Given the description of an element on the screen output the (x, y) to click on. 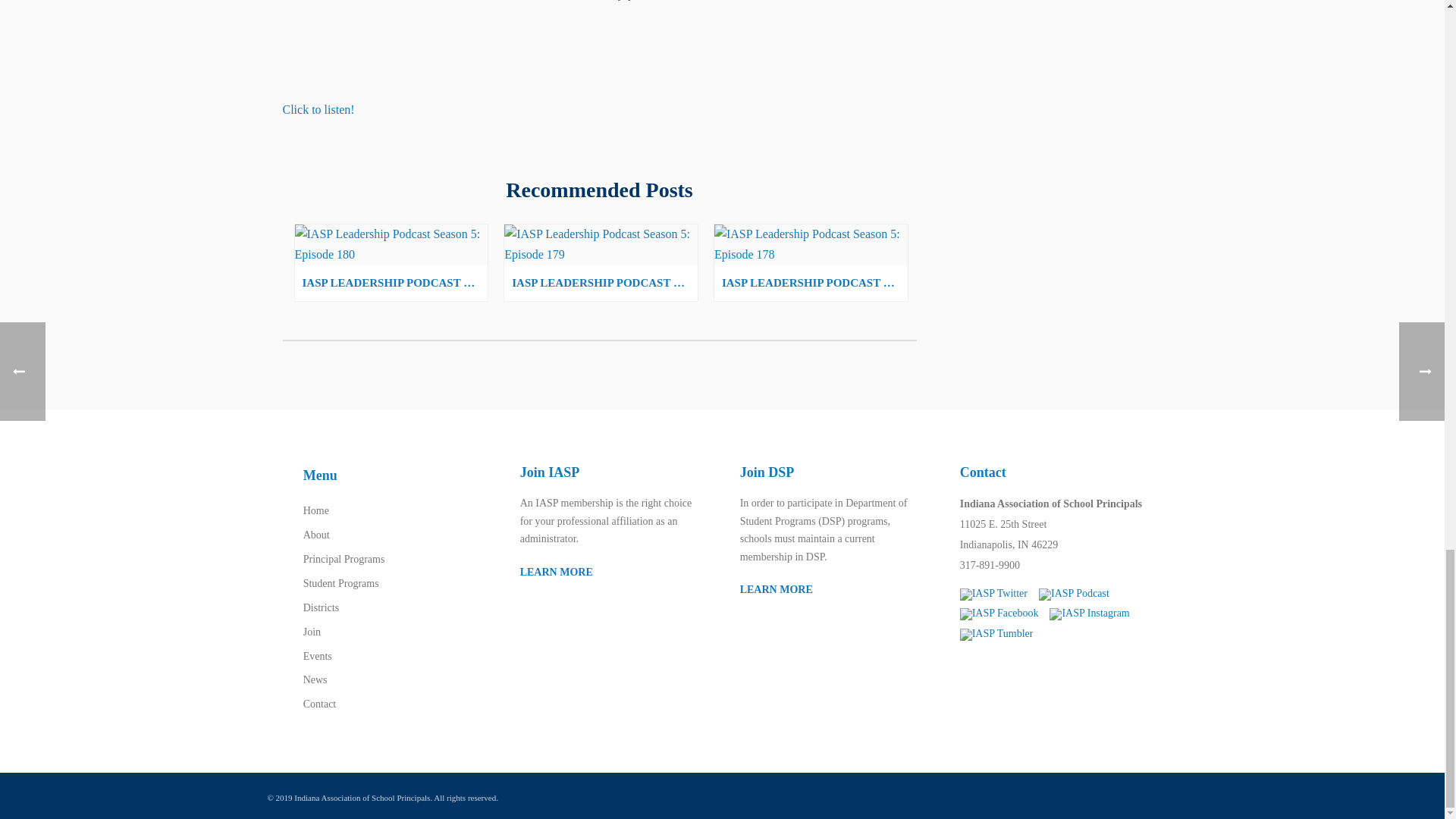
 IASP Podcast (1074, 594)
IASP Leadership Podcast Season 5: Episode 179 (600, 244)
 IASP Twitter (993, 594)
 IASP Instagram (1089, 613)
IASP Leadership Podcast Season 5: Episode 180 (390, 244)
 IASP Tumbler (996, 634)
 IASP Facebook (999, 613)
IASP Leadership Podcast Season 5: Episode 178 (810, 244)
